Given the description of an element on the screen output the (x, y) to click on. 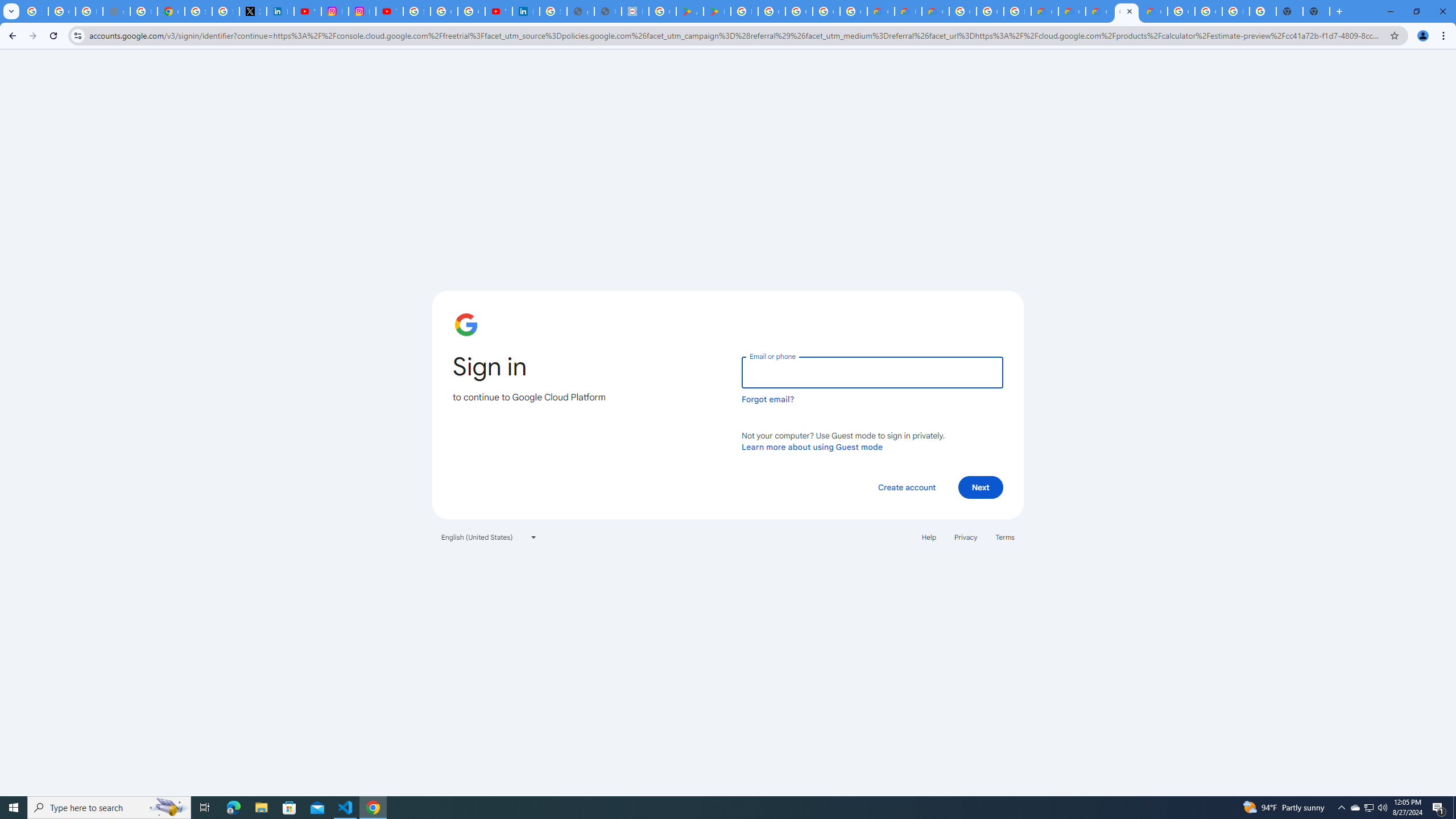
google_privacy_policy_en.pdf (580, 11)
Google Cloud Pricing Calculator (1071, 11)
Learn more about using Guest mode (812, 446)
Customer Care | Google Cloud (880, 11)
X (253, 11)
Google Cloud Platform (1208, 11)
